Given the description of an element on the screen output the (x, y) to click on. 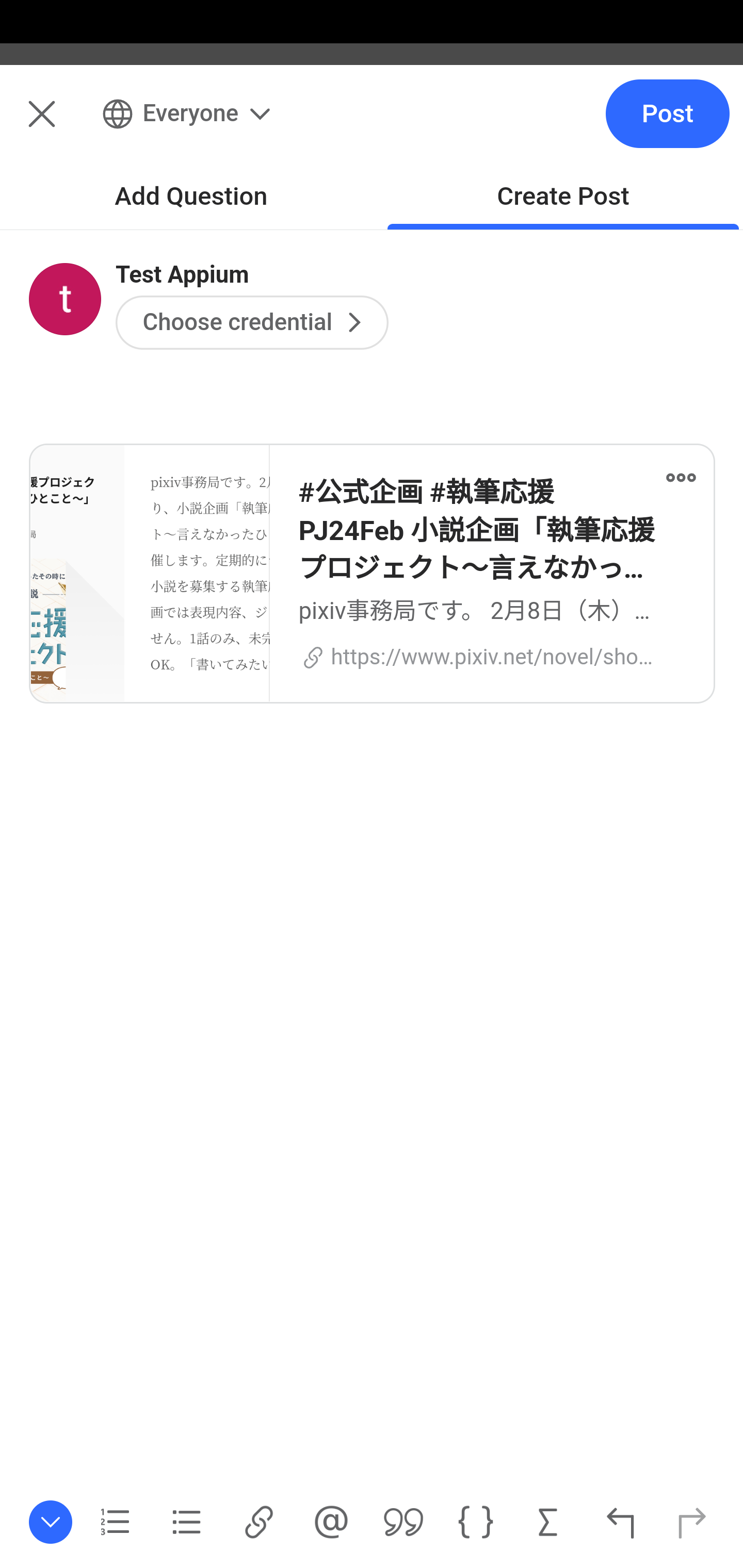
Me Answer Search Add (371, 125)
